Given the description of an element on the screen output the (x, y) to click on. 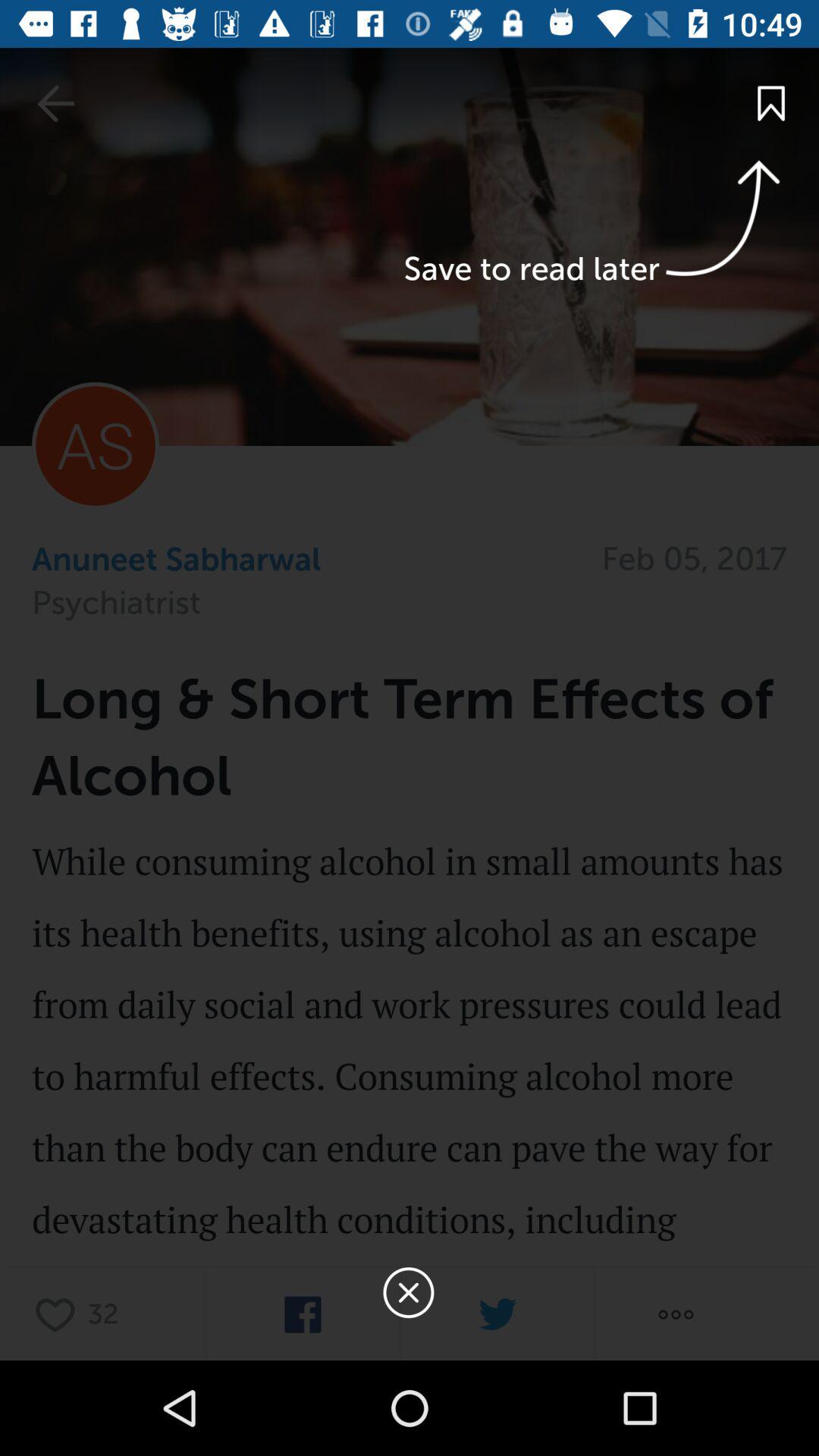
share on facebook (302, 1314)
